Given the description of an element on the screen output the (x, y) to click on. 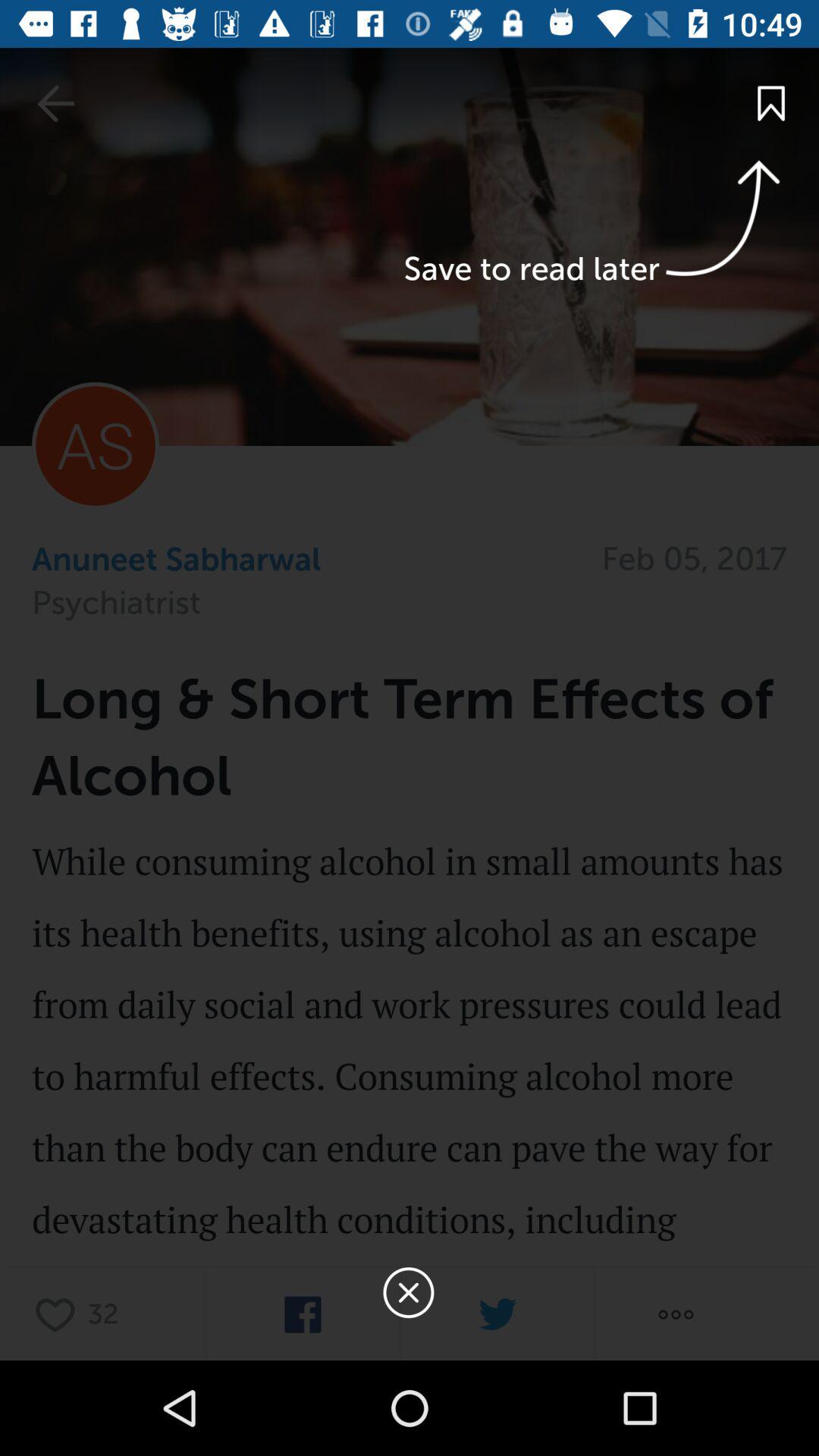
share on facebook (302, 1314)
